Given the description of an element on the screen output the (x, y) to click on. 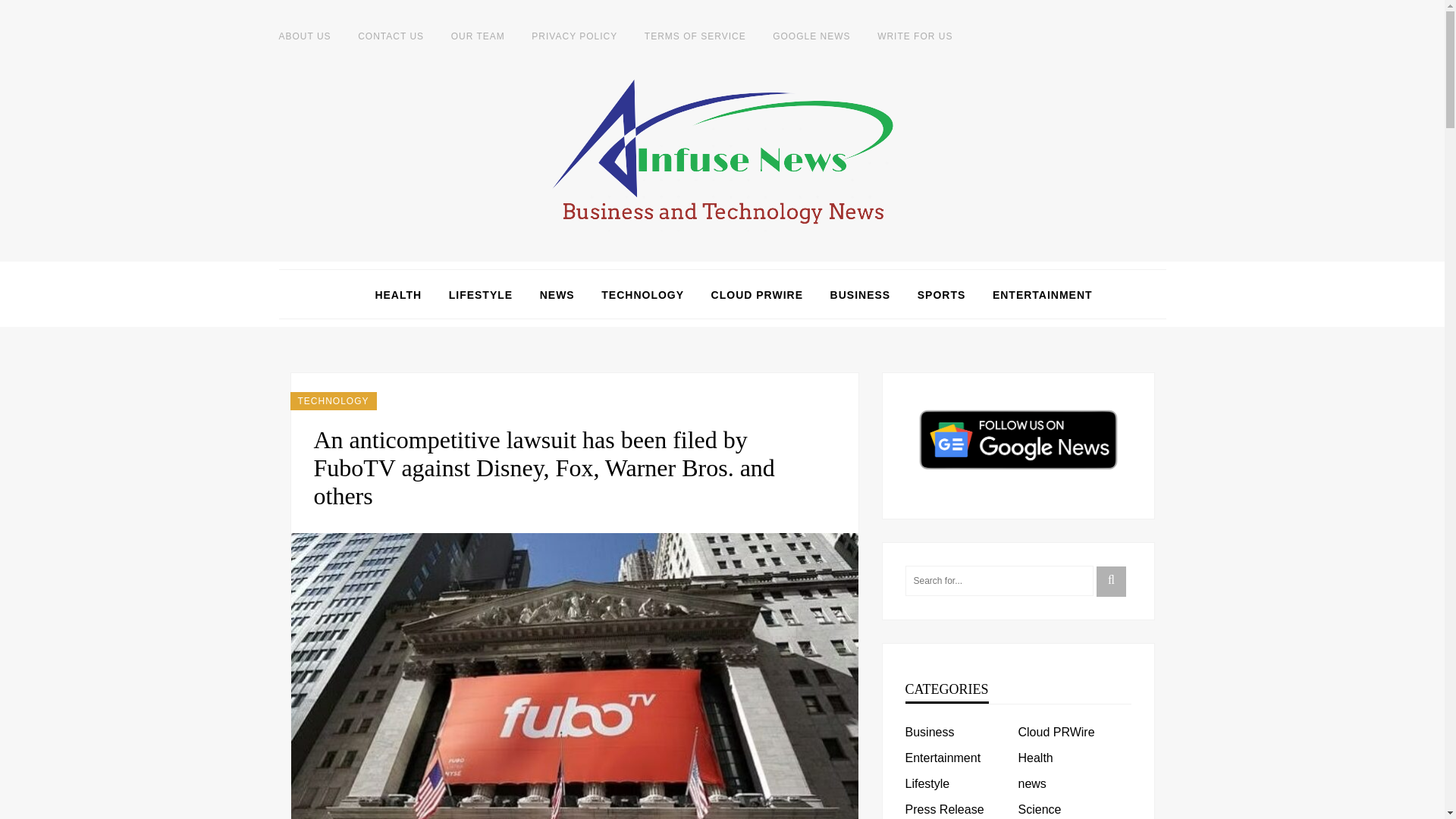
ABOUT US (305, 36)
TECHNOLOGY (332, 401)
CONTACT US (390, 36)
BUSINESS (860, 294)
SPORTS (941, 294)
CLOUD PRWIRE (757, 294)
NEWS (557, 294)
LIFESTYLE (480, 294)
PRIVACY POLICY (574, 36)
Search for: (999, 580)
HEALTH (398, 294)
OUR TEAM (478, 36)
WRITE FOR US (914, 36)
TERMS OF SERVICE (695, 36)
GOOGLE NEWS (811, 36)
